Given the description of an element on the screen output the (x, y) to click on. 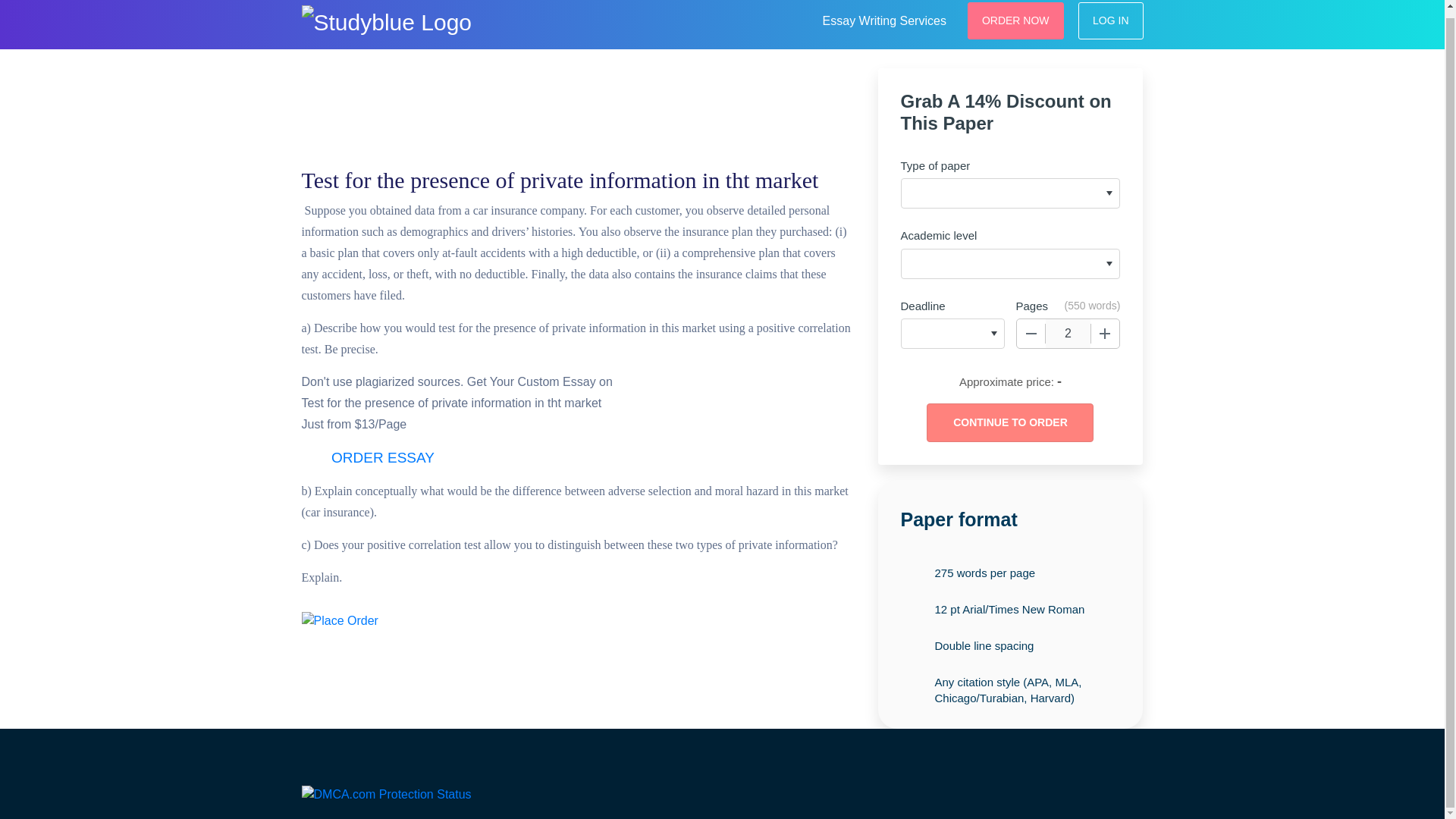
Essay Writing Services (884, 18)
ORDER ESSAY (382, 457)
Continue to order (1009, 422)
ORDER NOW (1016, 20)
DMCA.com Protection Status (386, 793)
Place Order (339, 620)
Continue to order (1009, 422)
Increase (1104, 333)
Essay Writing Services (884, 18)
2 (1067, 333)
